Given the description of an element on the screen output the (x, y) to click on. 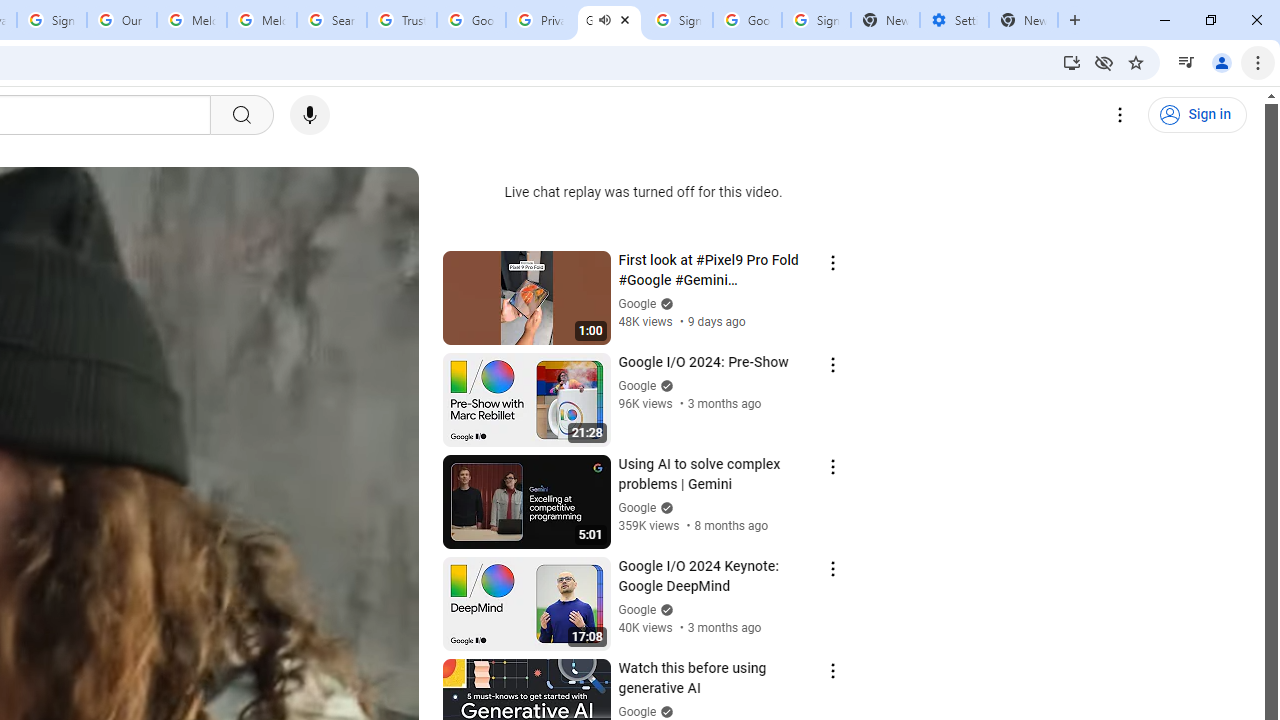
Google Cybersecurity Innovations - Google Safety Center (747, 20)
Install YouTube (1071, 62)
Search with your voice (309, 115)
Sign in - Google Accounts (51, 20)
Sign in - Google Accounts (816, 20)
